Given the description of an element on the screen output the (x, y) to click on. 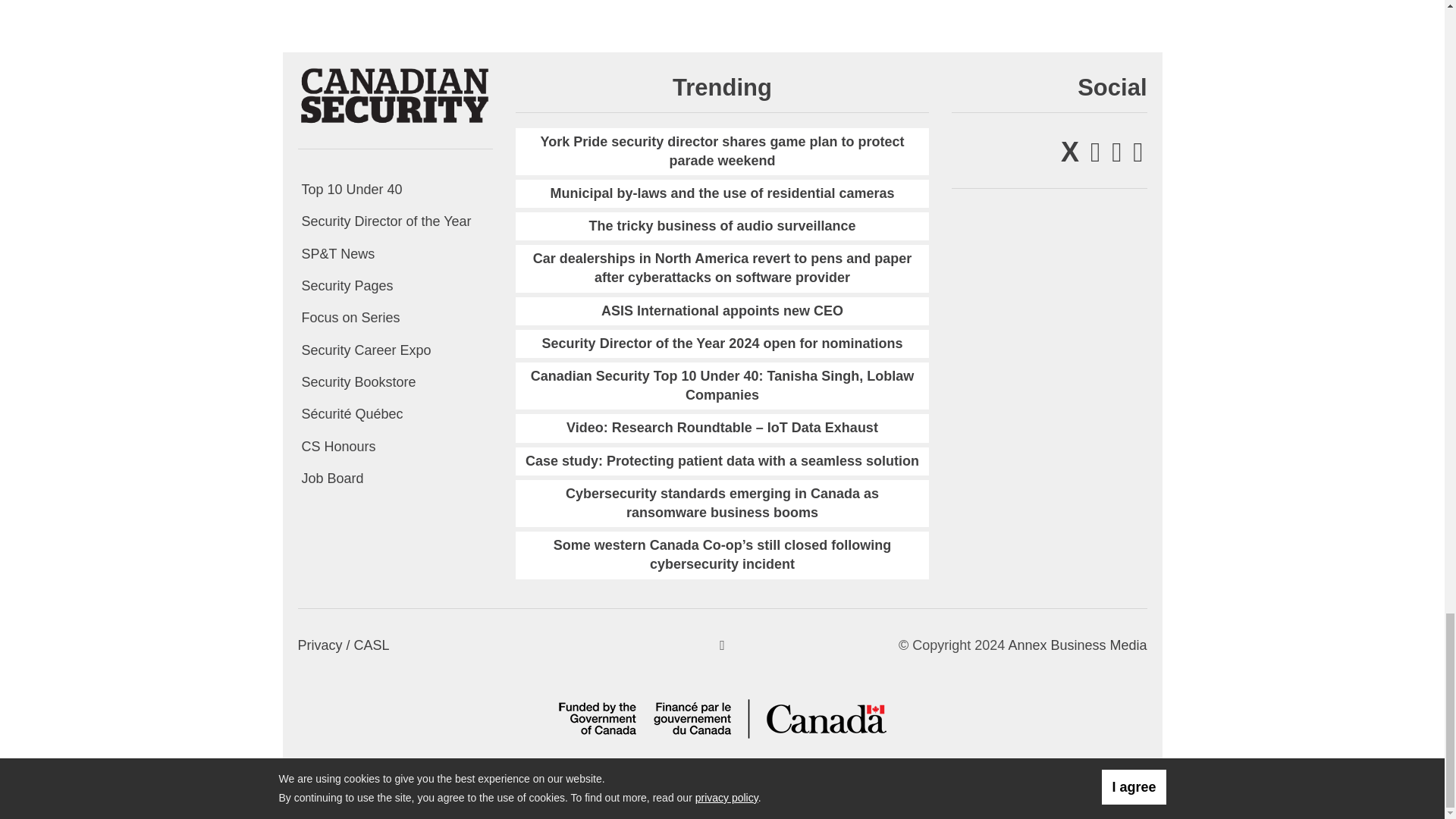
Annex Business Media (1077, 645)
Canadian Security Magazine (395, 94)
scroll to top (722, 645)
